Given the description of an element on the screen output the (x, y) to click on. 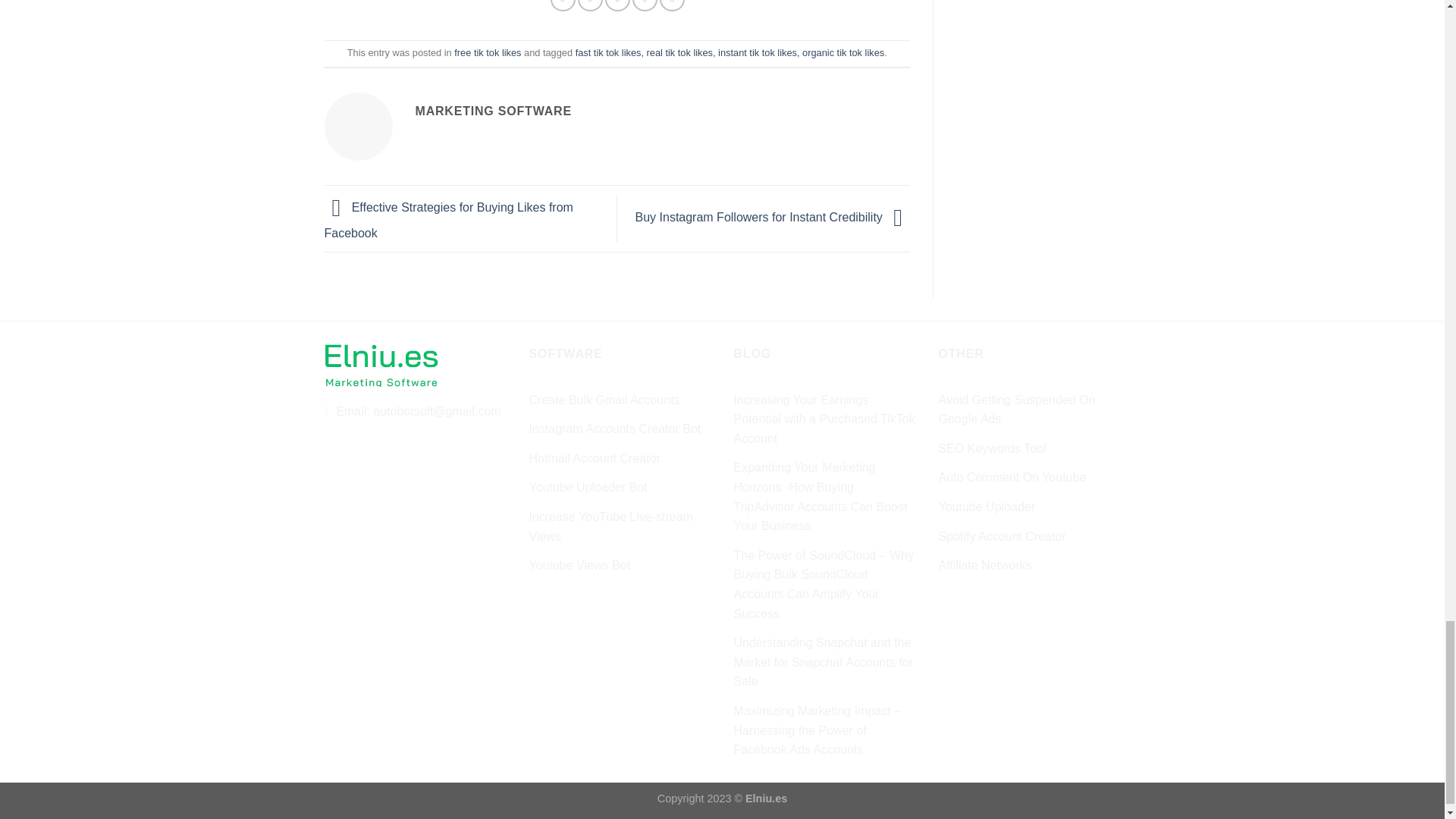
Share on LinkedIn (671, 6)
Share on Twitter (590, 6)
Pin on Pinterest (644, 6)
Share on Facebook (562, 6)
Email to a Friend (617, 6)
